Given the description of an element on the screen output the (x, y) to click on. 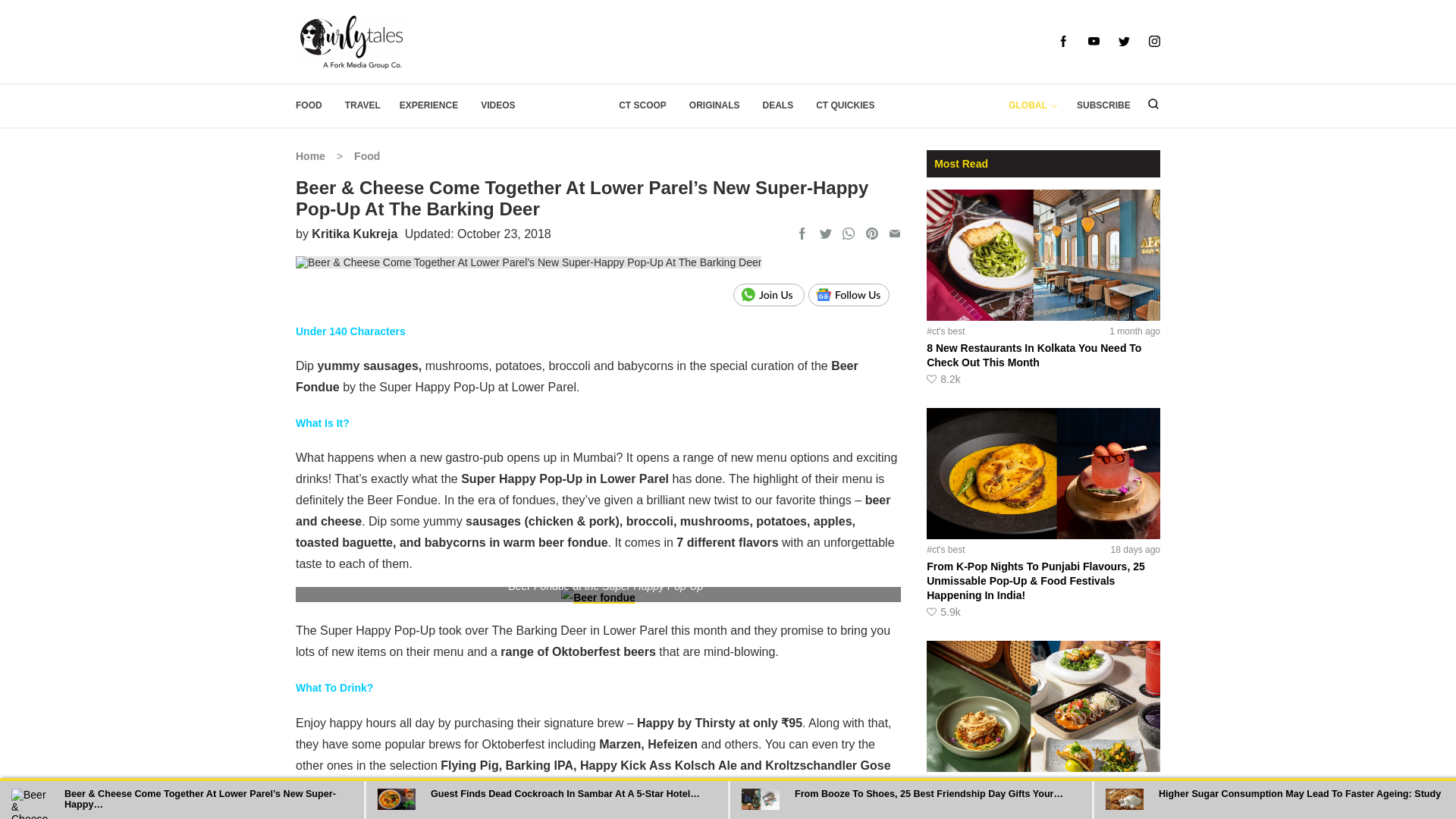
FOOD (308, 105)
